Given the description of an element on the screen output the (x, y) to click on. 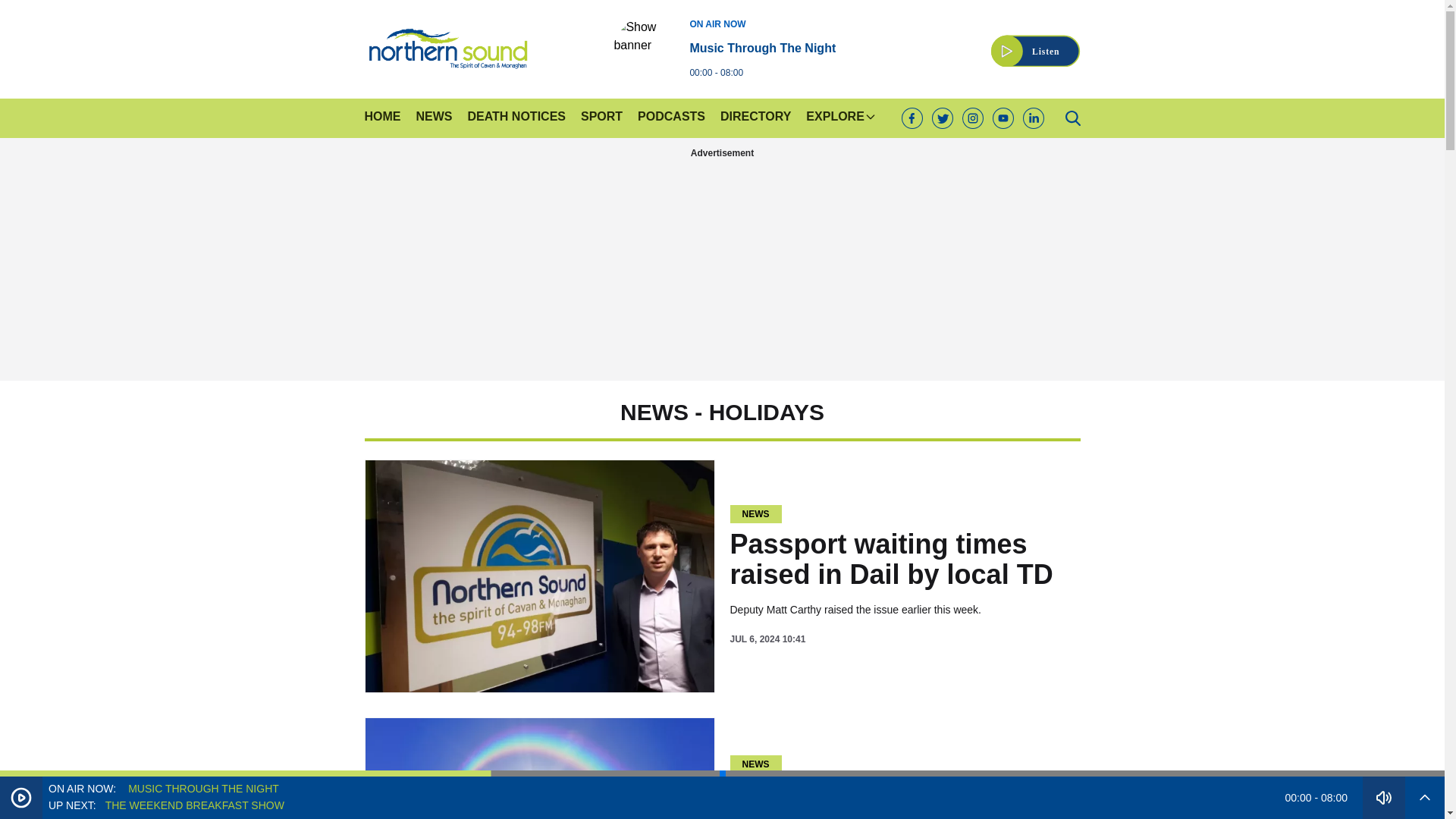
Listen (1035, 42)
HOME (382, 118)
NEWS (432, 118)
DIRECTORY (755, 118)
SPORT (601, 118)
DEATH NOTICES (515, 118)
NorthernSound (723, 48)
PODCASTS (447, 47)
